Given the description of an element on the screen output the (x, y) to click on. 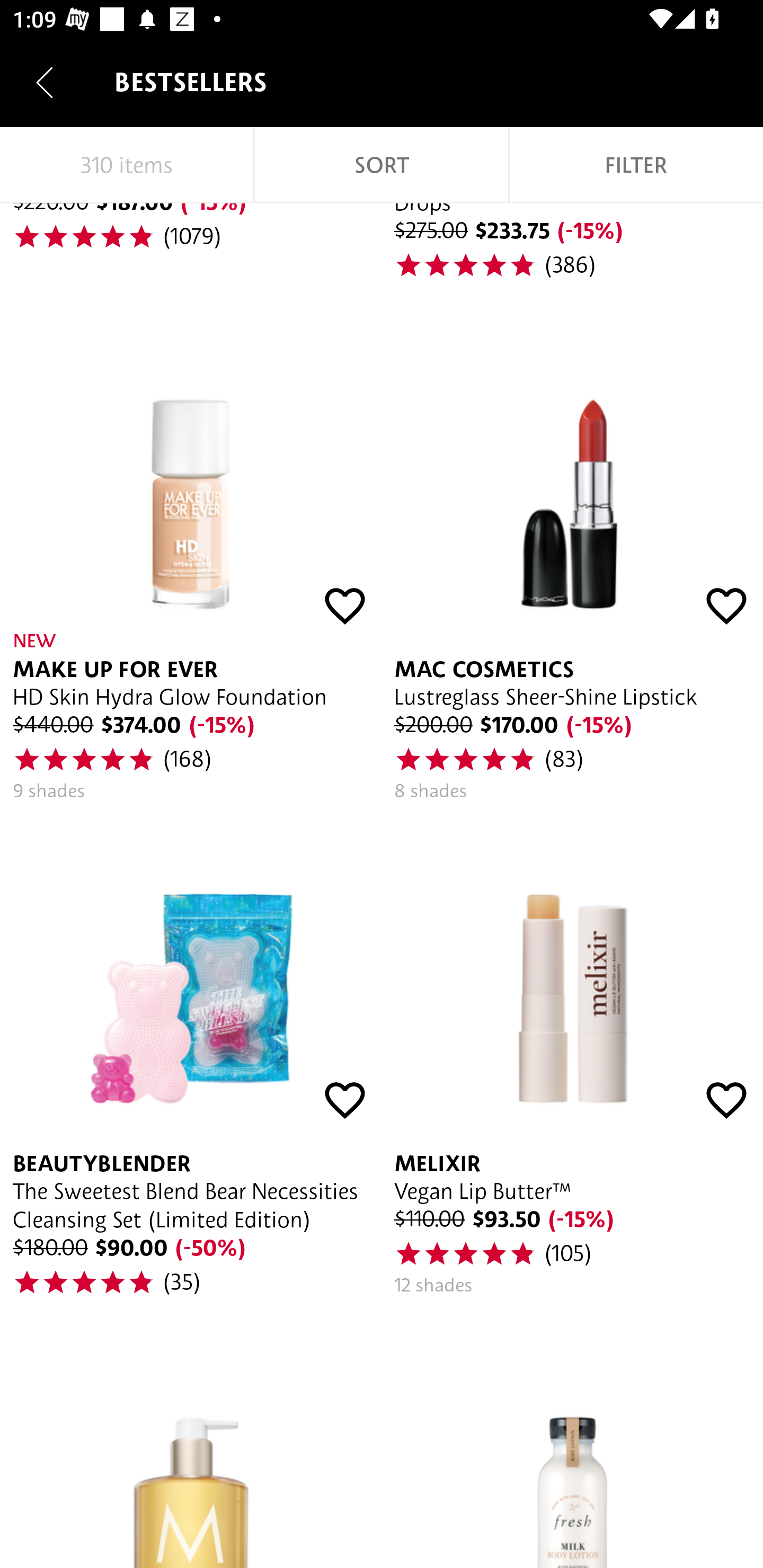
Navigate up (44, 82)
SORT (381, 165)
FILTER (636, 165)
